Given the description of an element on the screen output the (x, y) to click on. 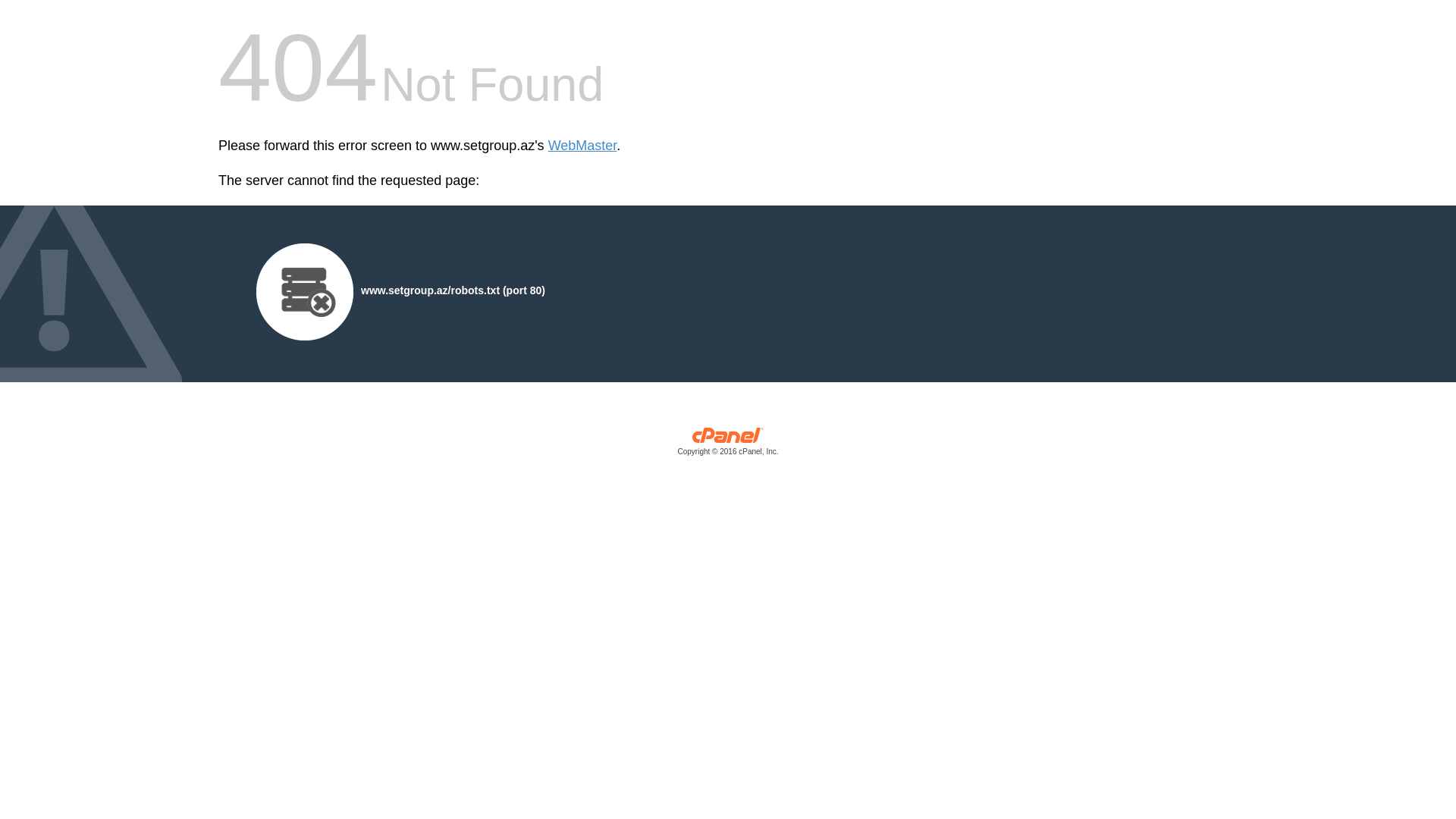
WebMaster Element type: text (582, 145)
